Given the description of an element on the screen output the (x, y) to click on. 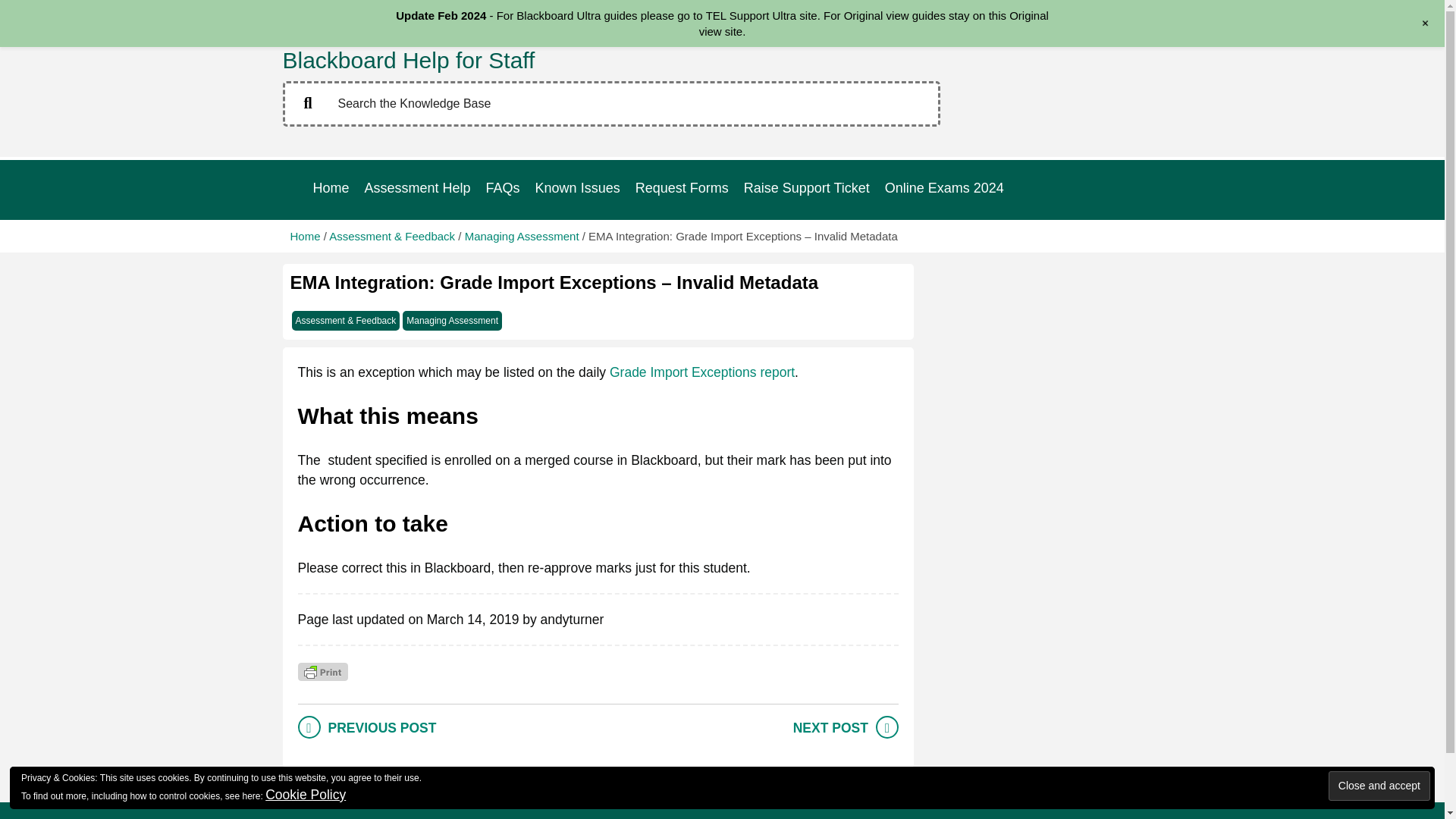
Search the Knowledge Base (611, 103)
Home (304, 235)
FAQs (502, 187)
Cookie Policy (305, 794)
Close and accept (1378, 785)
Grade Import Exceptions report (702, 371)
Known Issues (577, 187)
NEXT POST (830, 727)
Home (331, 187)
PREVIOUS POST (381, 727)
Blackboard Help for Staff (408, 59)
Assessment Help (417, 187)
Online Exams 2024 (944, 187)
Request Forms (681, 187)
Raise Support Ticket (806, 187)
